Given the description of an element on the screen output the (x, y) to click on. 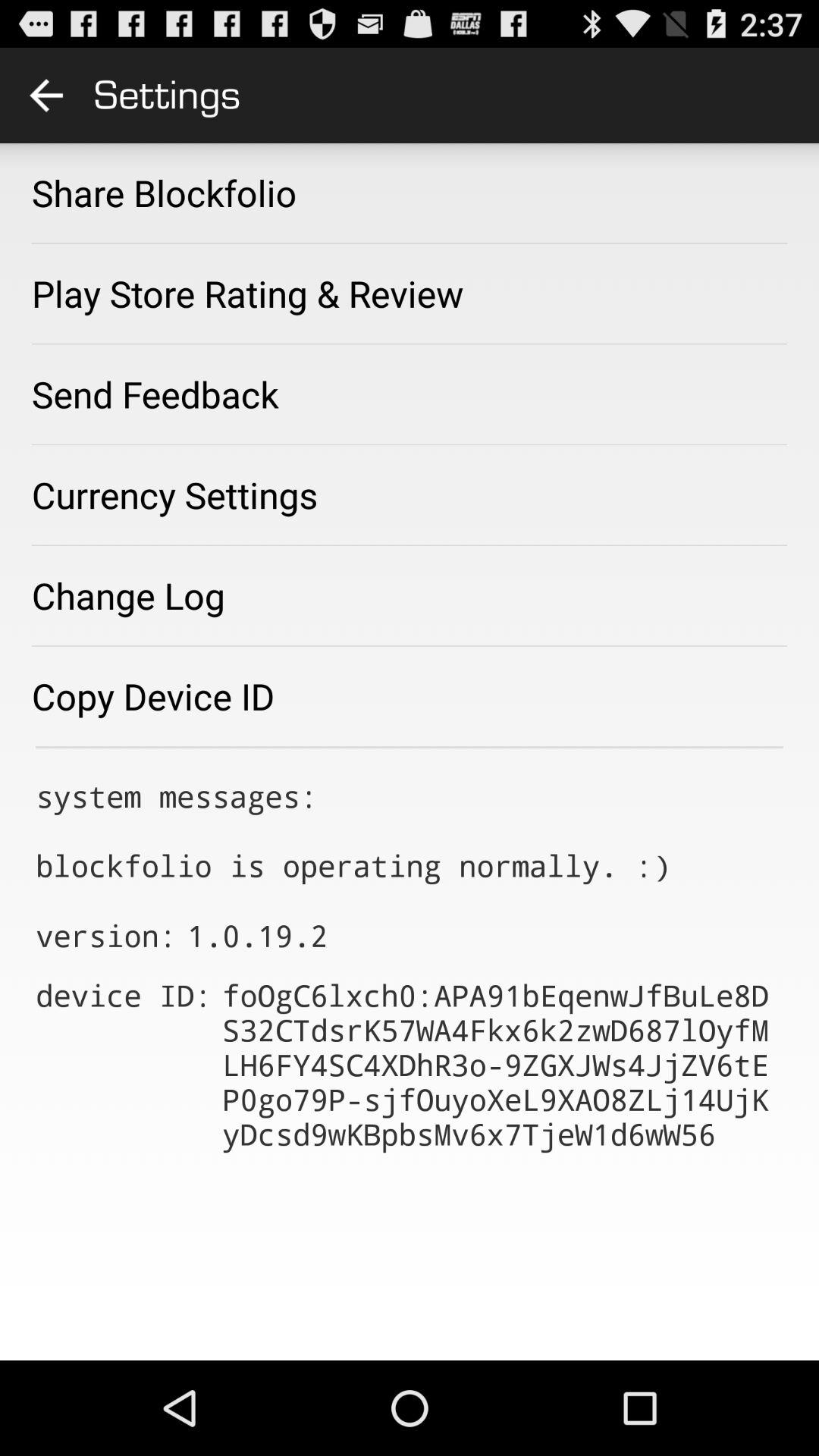
open icon above the device id: app (257, 935)
